Given the description of an element on the screen output the (x, y) to click on. 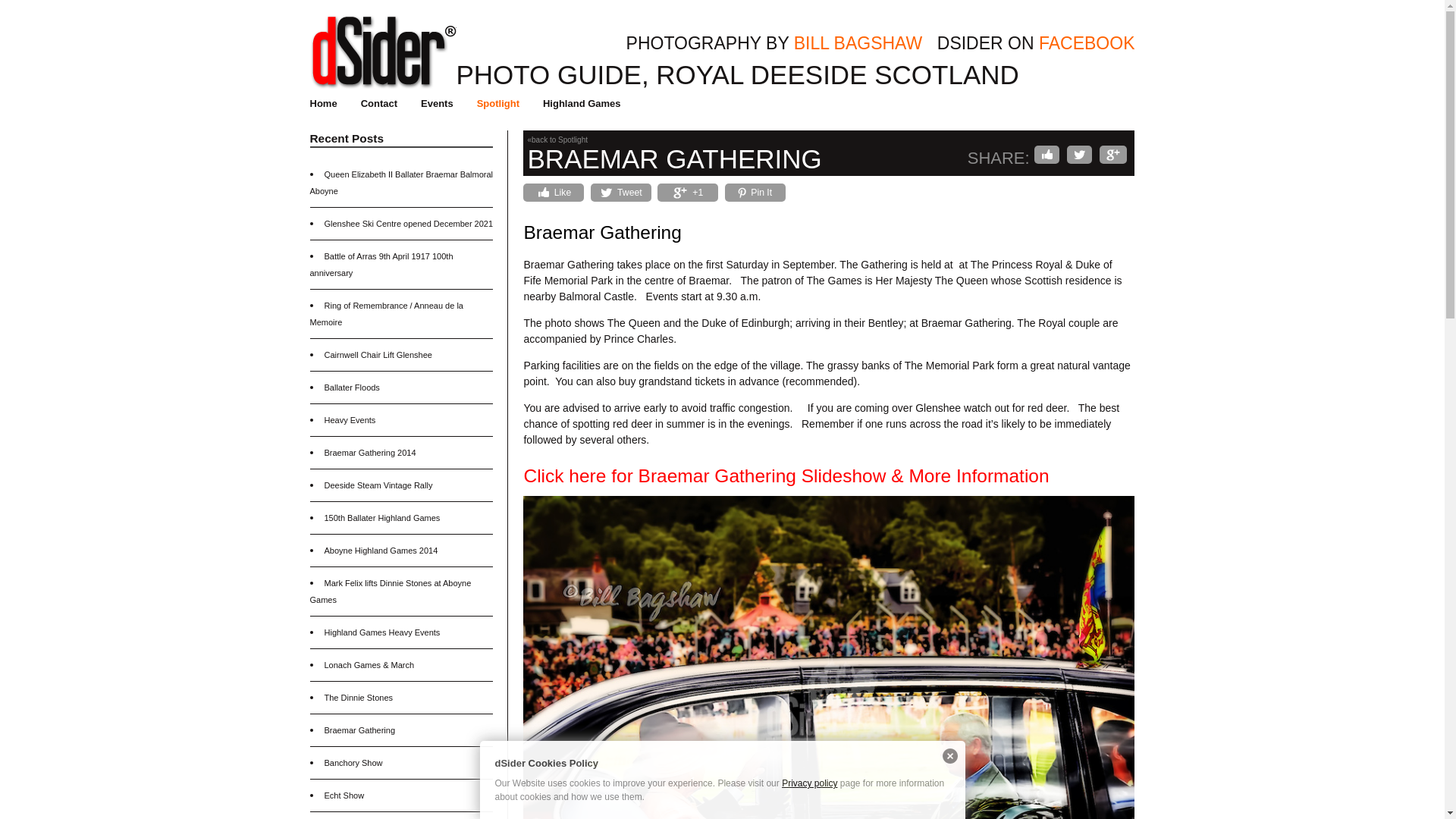
PHOTOGRAPHY BY BILL BAGSHAW (774, 43)
Ballater Floods (352, 387)
Contact (379, 103)
Pin It (755, 192)
Highland Games Heavy Events (382, 632)
Share on Google Plus (1112, 154)
Tweet (620, 192)
DSIDER ON FACEBOOK (1036, 43)
Share on Twitter (1079, 154)
Braemar Gathering 2014 (370, 452)
Braemar Gathering (360, 729)
Share on Google Plus (687, 192)
Share on Facebook (552, 192)
Events (437, 103)
Glenshee Ski Centre opened December 2021 (408, 223)
